Given the description of an element on the screen output the (x, y) to click on. 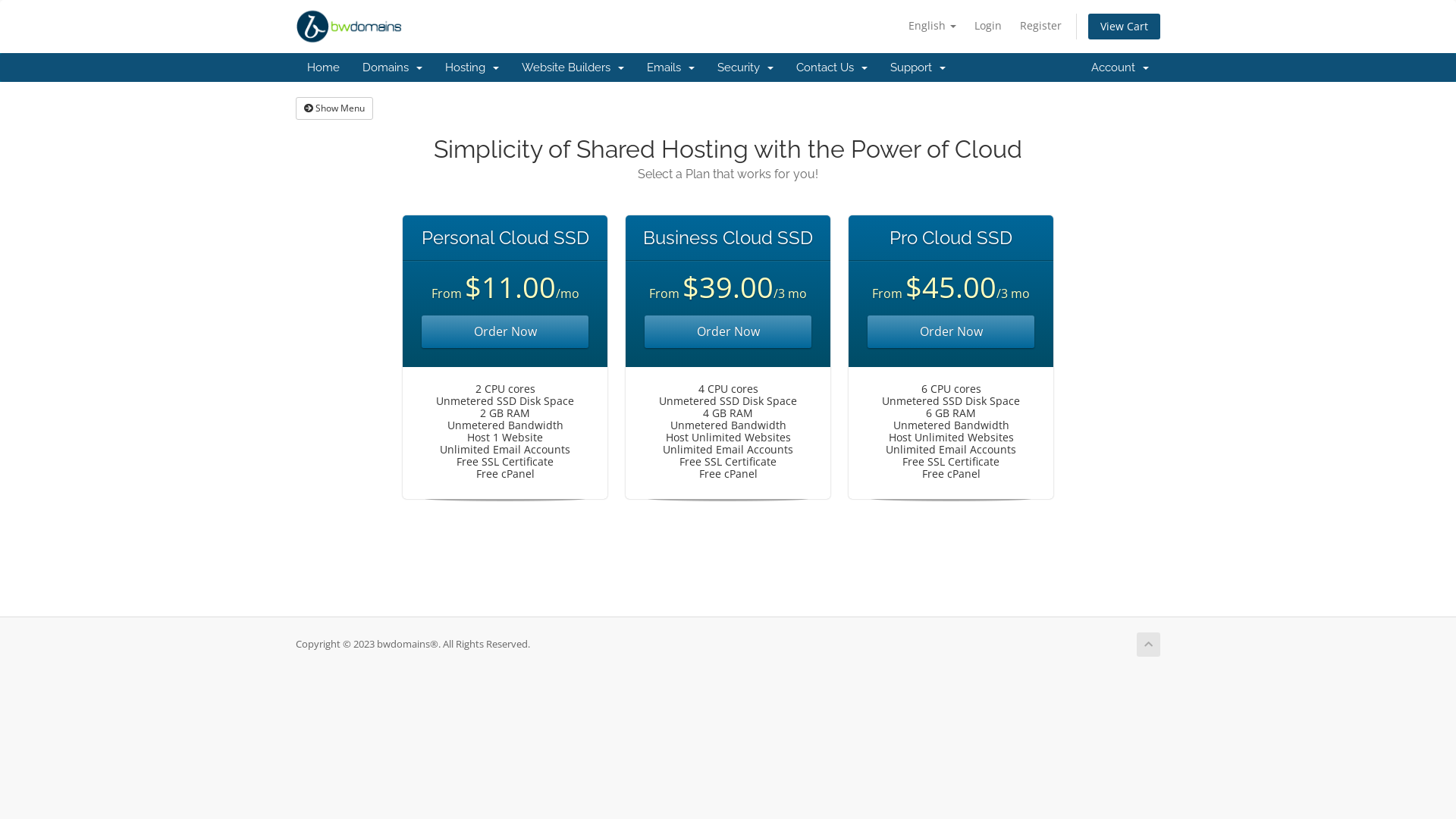
Security   Element type: text (745, 67)
Domains   Element type: text (392, 67)
View Cart Element type: text (1124, 26)
Order Now Element type: text (727, 331)
Emails   Element type: text (670, 67)
Register Element type: text (1040, 25)
Account   Element type: text (1119, 67)
Order Now Element type: text (950, 331)
Show Menu Element type: text (334, 108)
Home Element type: text (323, 67)
Hosting   Element type: text (471, 67)
Contact Us   Element type: text (831, 67)
Support   Element type: text (917, 67)
Order Now Element type: text (504, 331)
Website Builders   Element type: text (572, 67)
Login Element type: text (987, 25)
English Element type: text (931, 25)
